Given the description of an element on the screen output the (x, y) to click on. 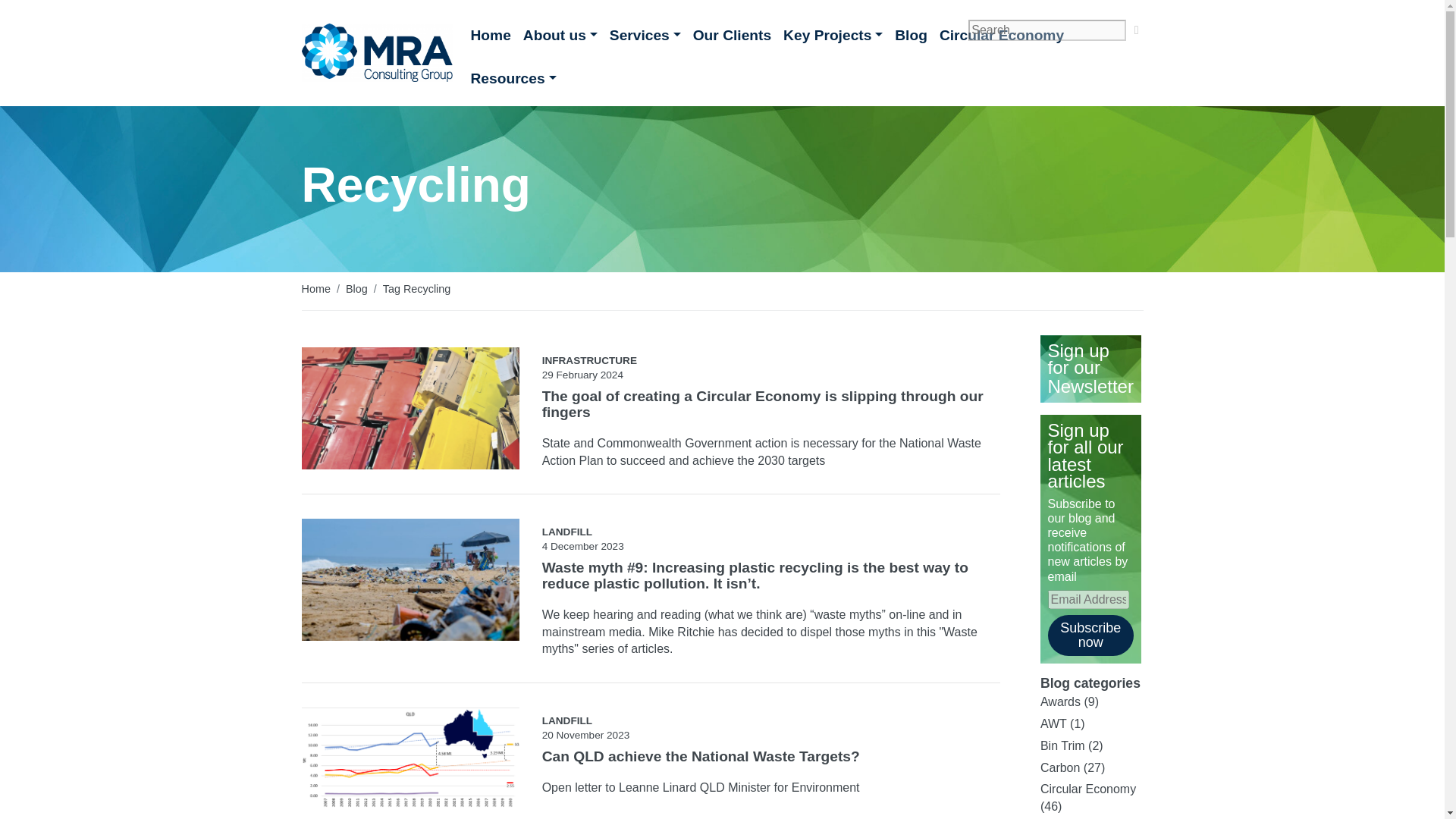
Blog (910, 41)
Key Projects (832, 41)
Home (490, 41)
About us (560, 41)
Home (315, 288)
Circular Economy (1001, 41)
Our Clients (732, 41)
About us (560, 41)
Tag Recycling (416, 288)
Home (490, 41)
Services (645, 41)
Blog (357, 288)
Services (645, 41)
Resources (513, 84)
